Given the description of an element on the screen output the (x, y) to click on. 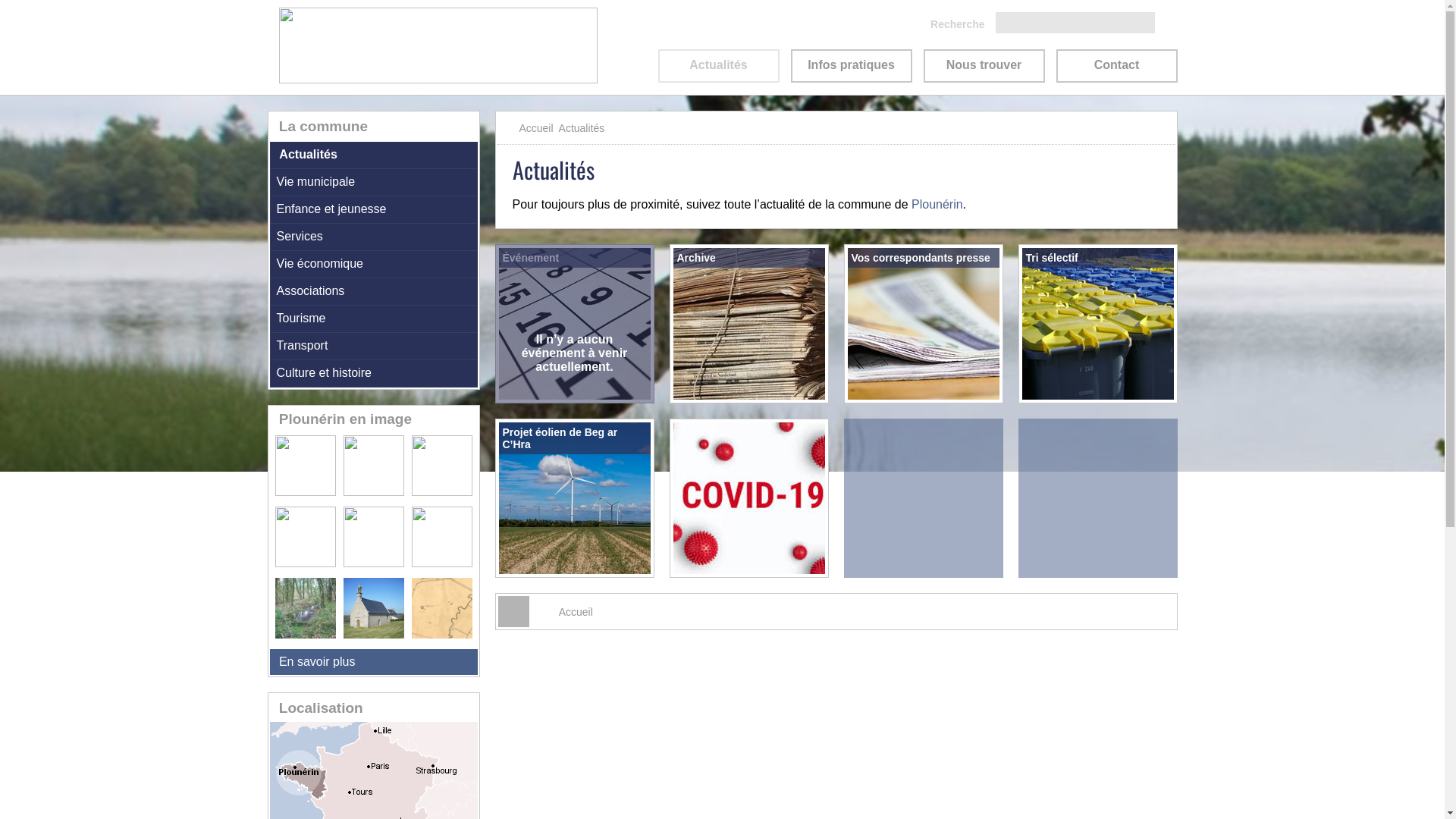
  Element type: text (505, 611)
Nous trouver Element type: text (983, 65)
Accueil Element type: text (535, 128)
Le Colombier de Lesmoal Element type: hover (308, 491)
 En savoir plus Element type: text (373, 661)
Associations Element type: text (373, 291)
Transport Element type: text (373, 346)
Vie municipale Element type: text (373, 182)
Accueil Element type: text (575, 611)
   Element type: text (515, 127)
Contact Element type: text (1115, 65)
Enfance et jeunesse Element type: text (373, 209)
Culture et histoire Element type: text (373, 373)
Tourisme Element type: text (373, 318)
Services Element type: text (373, 237)
Infos pratiques Element type: text (850, 65)
Une Statue dans la Chapelle Notre Dame de Bon Voyage Element type: hover (441, 491)
